Given the description of an element on the screen output the (x, y) to click on. 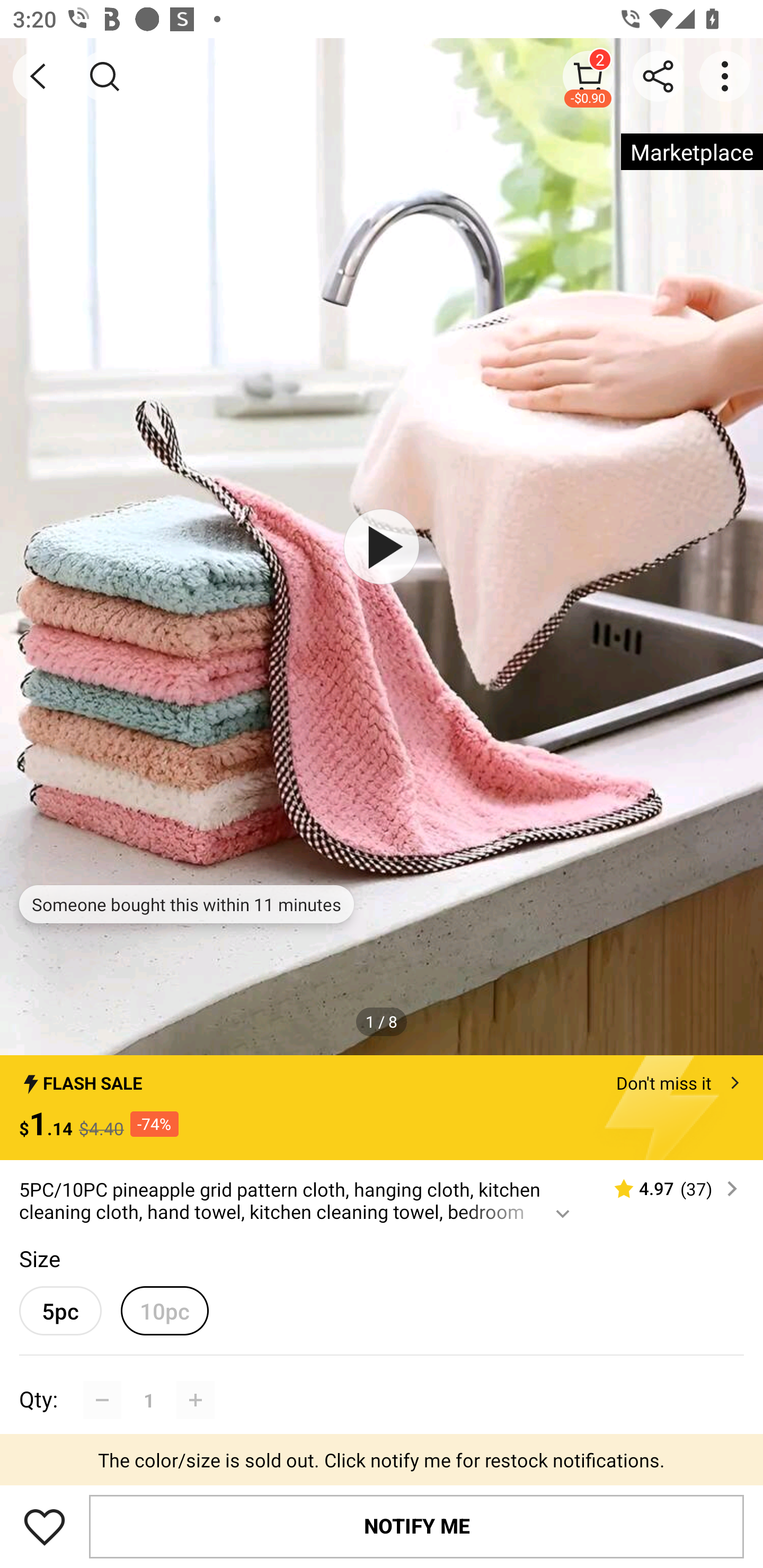
BACK (38, 75)
2 -$0.90 (588, 75)
1 / 8 (381, 1021)
FLASH SALE Don't miss it $1.14 $4.40 -74% (381, 1107)
FLASH SALE Don't miss it (381, 1077)
4.97 (37) (667, 1188)
Size (39, 1258)
5pc 5pcunselected option (60, 1310)
10pc (164, 1310)
Qty: 1 (381, 1380)
Promotion (381, 1464)
NOTIFY ME (416, 1526)
Save (44, 1526)
